Given the description of an element on the screen output the (x, y) to click on. 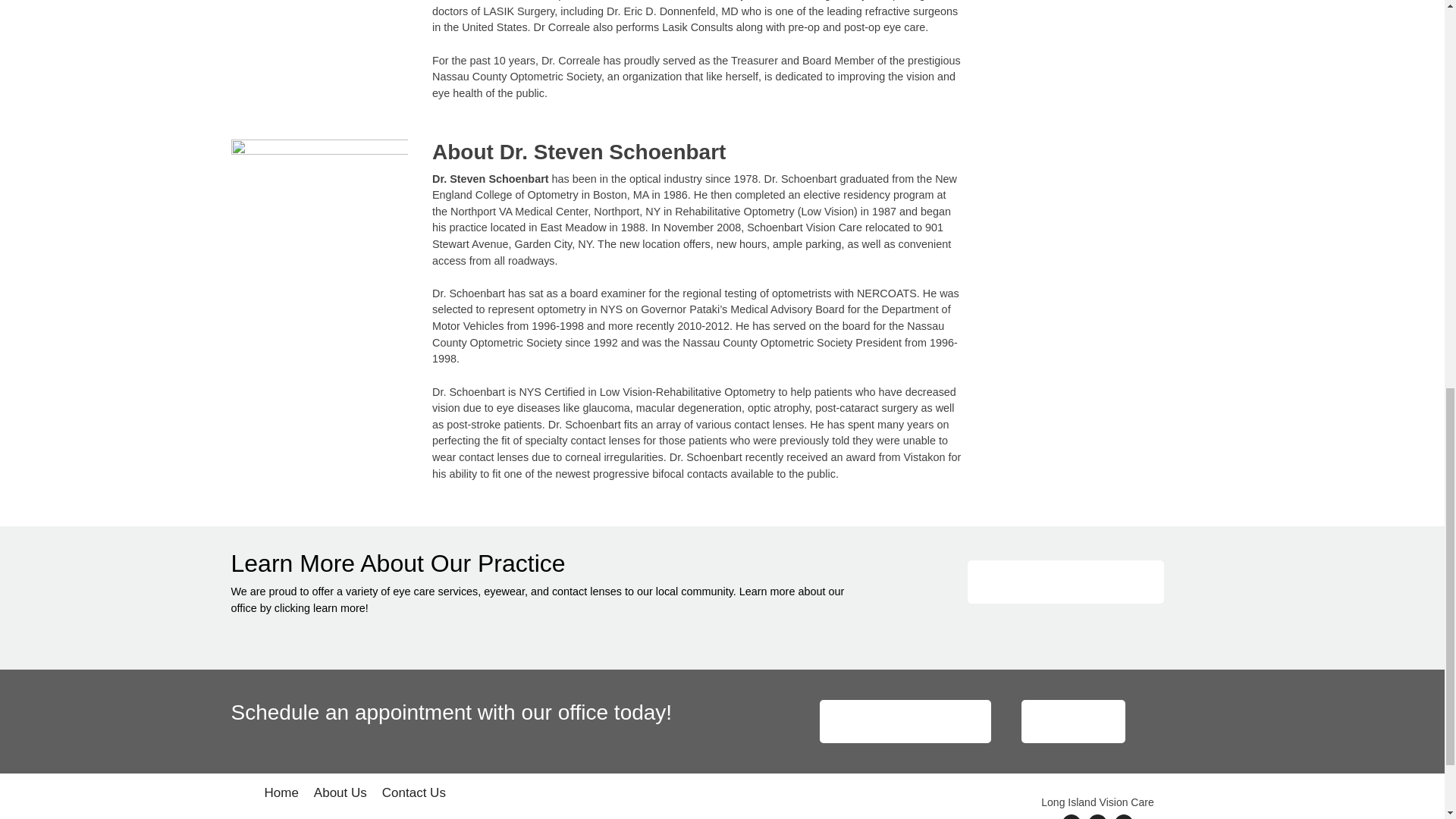
Google (1096, 817)
Schedule An Appointment (905, 721)
Facebook (1071, 817)
Learn More (1065, 581)
Contact Us (413, 794)
Home (280, 794)
Call Our Office (1073, 721)
About Us (339, 794)
Instagram (1123, 817)
